Given the description of an element on the screen output the (x, y) to click on. 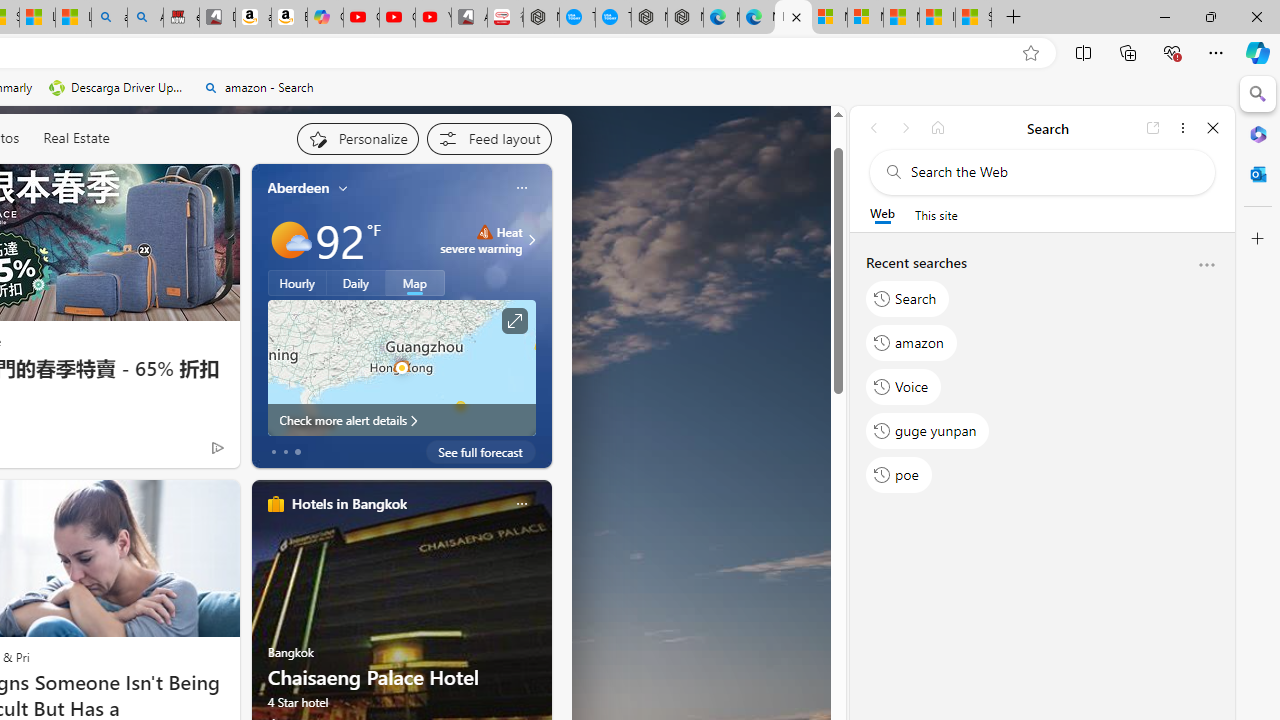
This story is trending (178, 452)
Feed settings (488, 138)
Click to see more information (513, 321)
This site scope (936, 215)
Open link in new tab (1153, 127)
Heat - Severe Heat severe warning (481, 239)
Voice (904, 386)
